Given the description of an element on the screen output the (x, y) to click on. 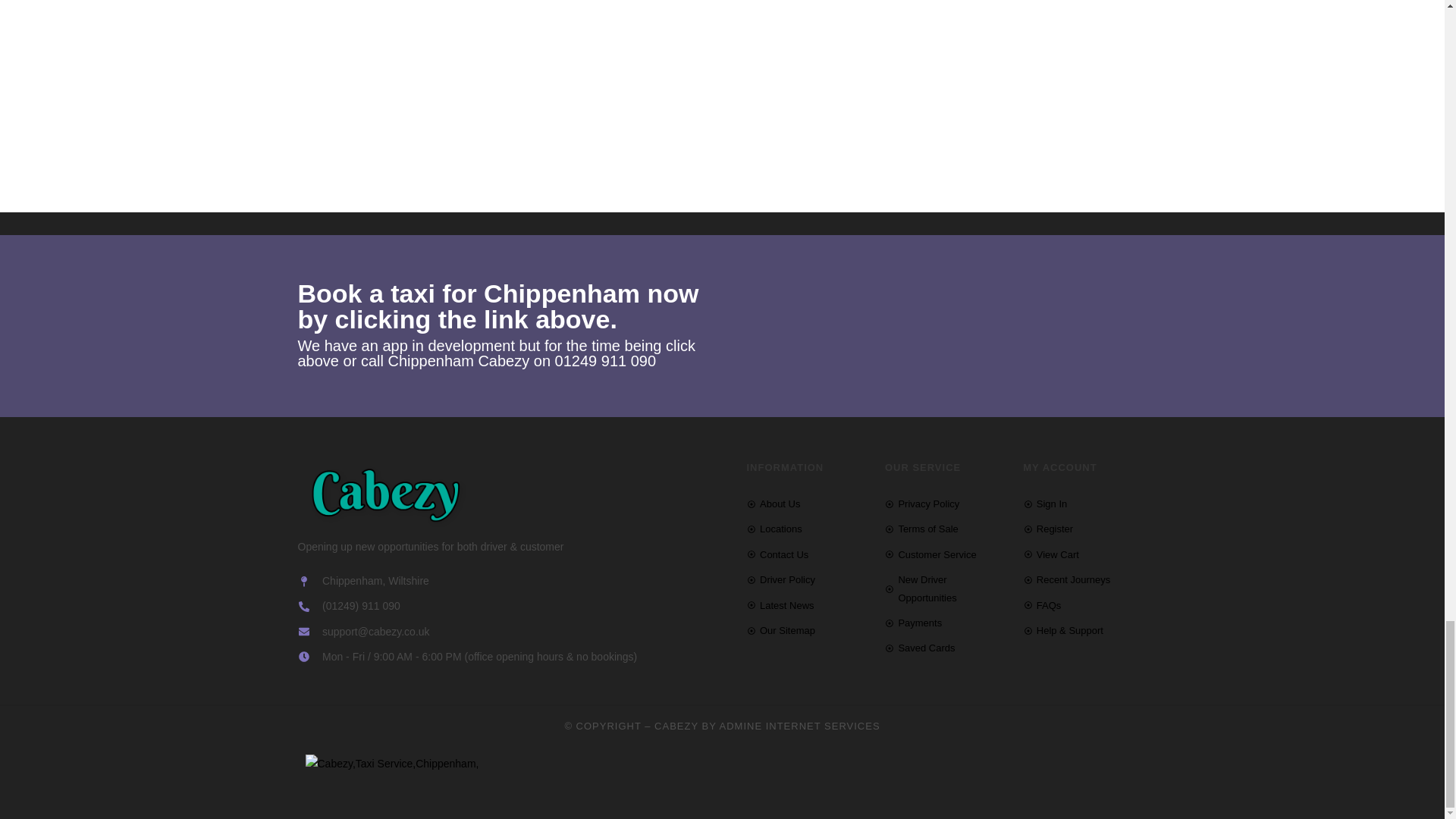
Register (1085, 528)
Contact Us (807, 554)
New Driver Opportunities (946, 588)
FAQs (1085, 605)
Our Sitemap (807, 630)
Recent Journeys (1085, 579)
Privacy Policy (946, 503)
Customer Service (946, 554)
Latest News (807, 605)
View Cart (1085, 554)
Locations (807, 528)
Saved Cards (946, 647)
Sign In (1085, 503)
Payments (946, 622)
Driver Policy (807, 579)
